Given the description of an element on the screen output the (x, y) to click on. 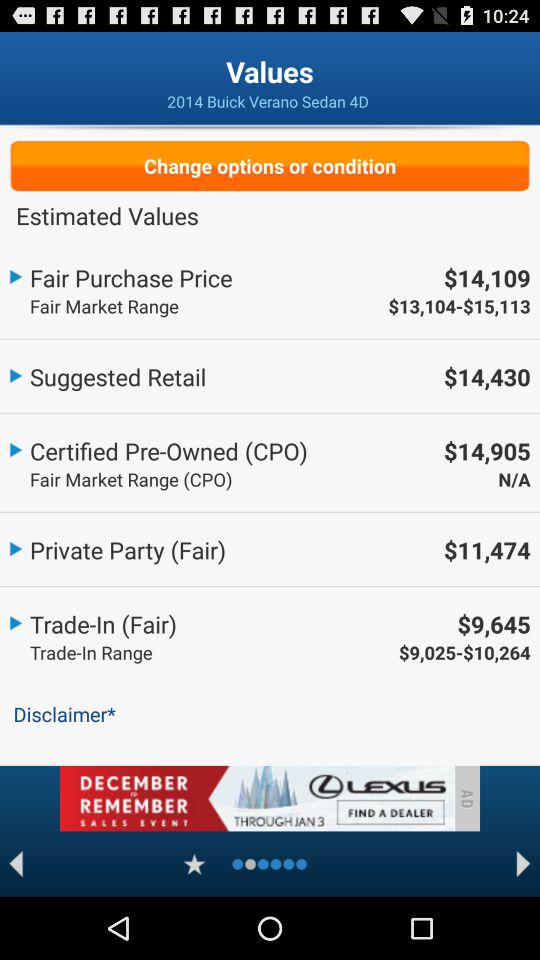
go to next page (523, 864)
